Given the description of an element on the screen output the (x, y) to click on. 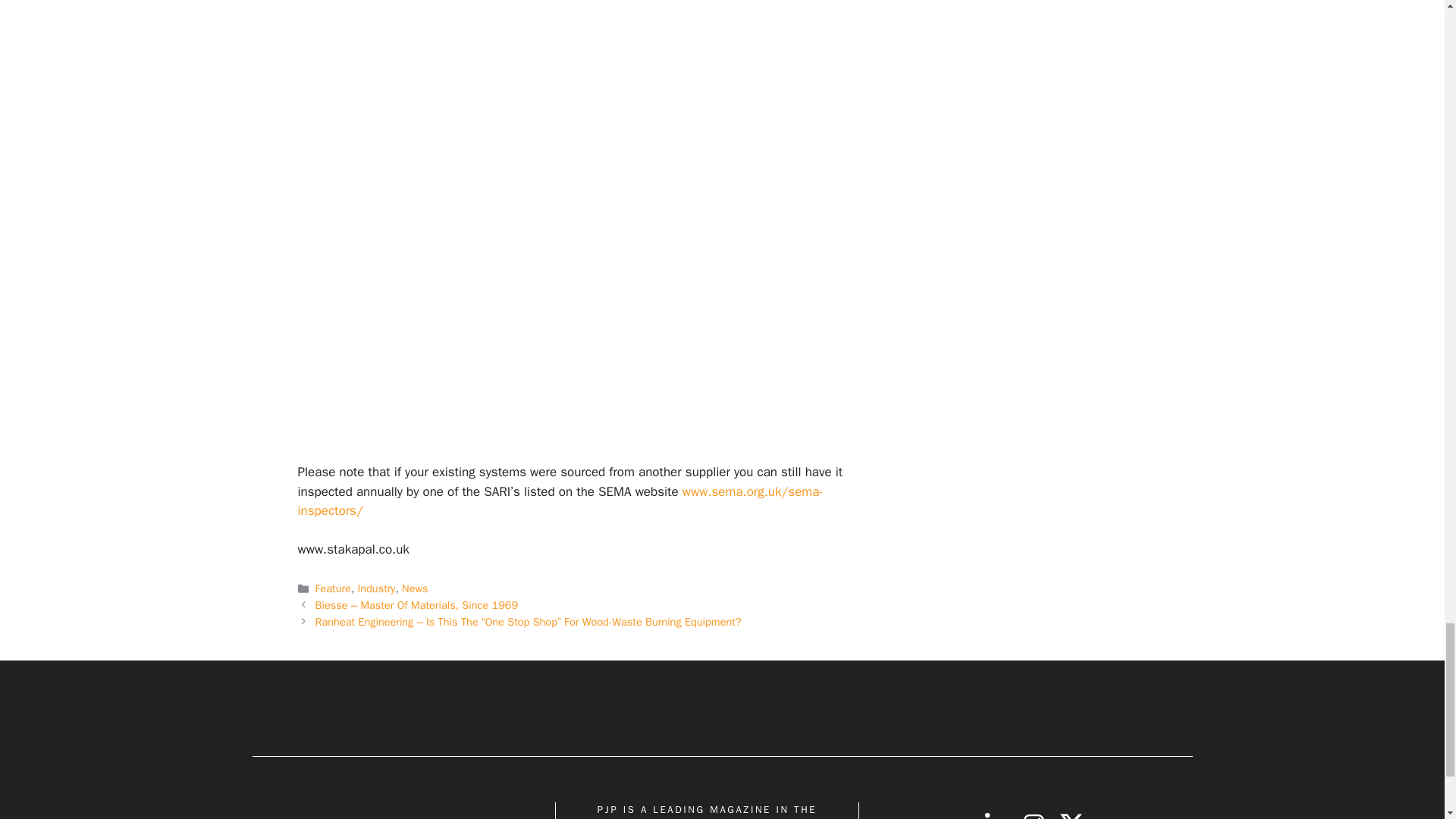
News (414, 588)
Industry (377, 588)
Feature (332, 588)
